Given the description of an element on the screen output the (x, y) to click on. 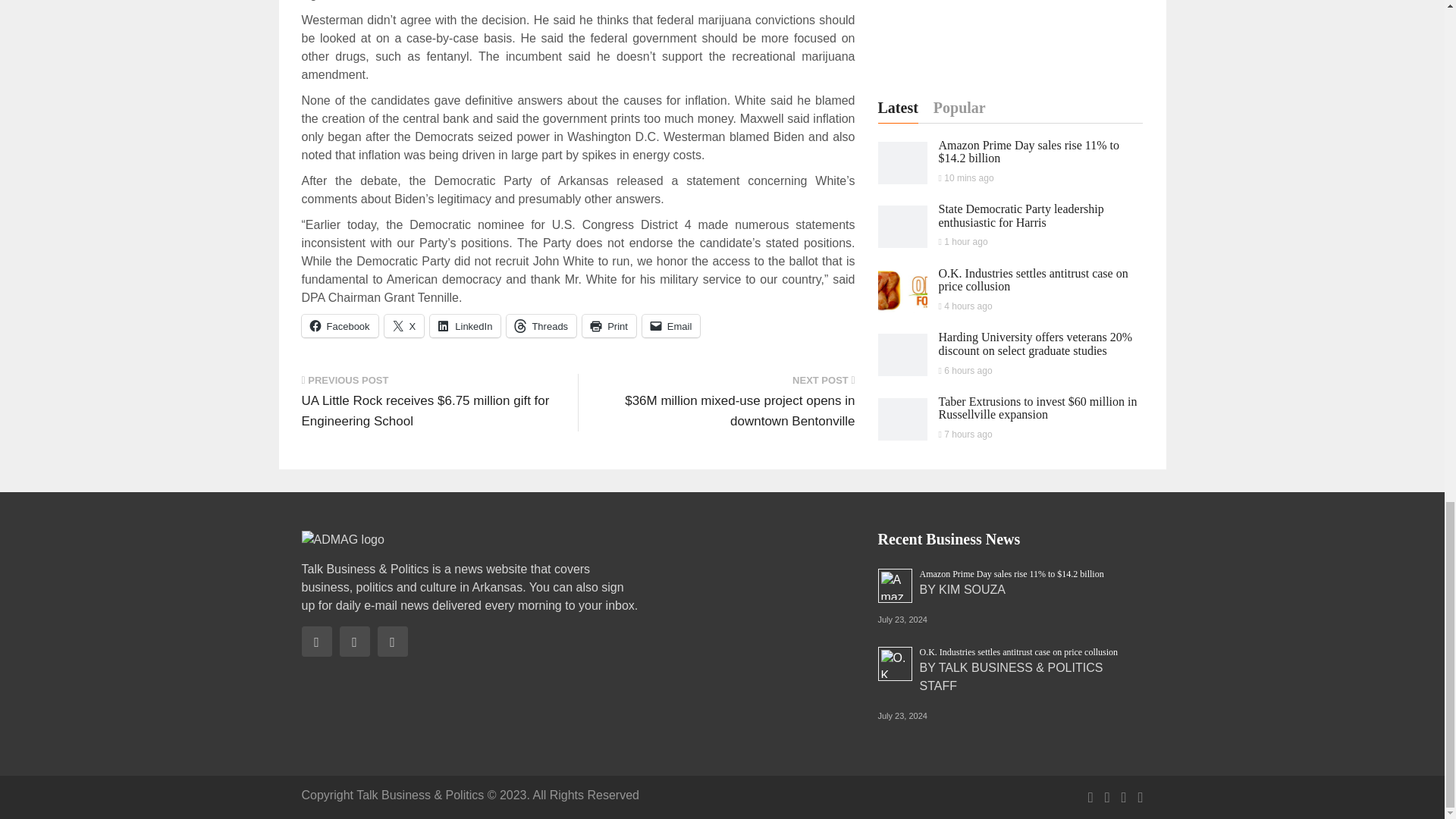
Click to share on LinkedIn (464, 325)
Click to share on X (404, 325)
Click to share on Facebook (339, 325)
Click to share on Threads (541, 325)
Click to print (609, 325)
